Given the description of an element on the screen output the (x, y) to click on. 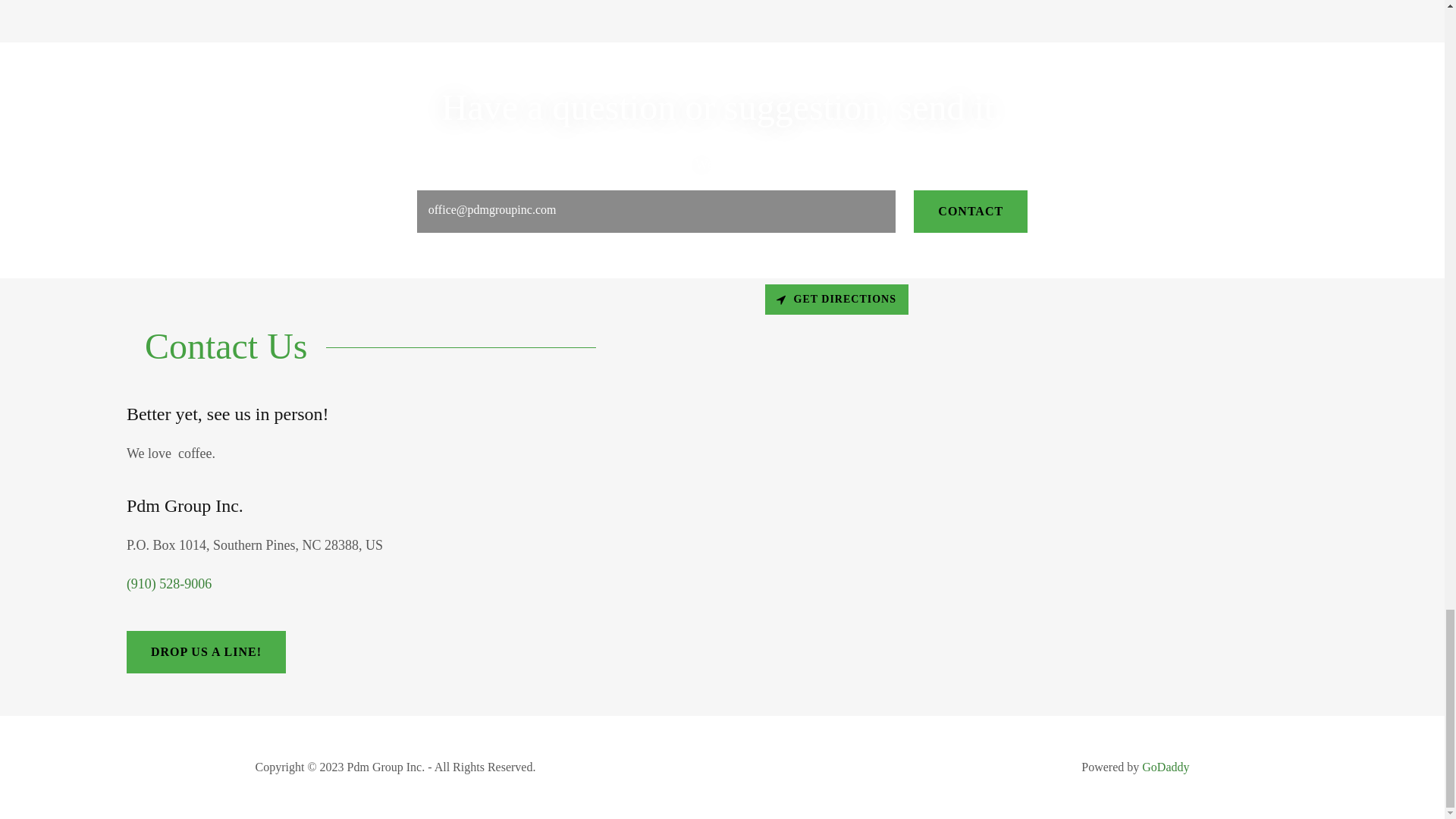
CONTACT (970, 211)
GoDaddy (1165, 766)
DROP US A LINE! (205, 651)
GET DIRECTIONS (836, 299)
